Given the description of an element on the screen output the (x, y) to click on. 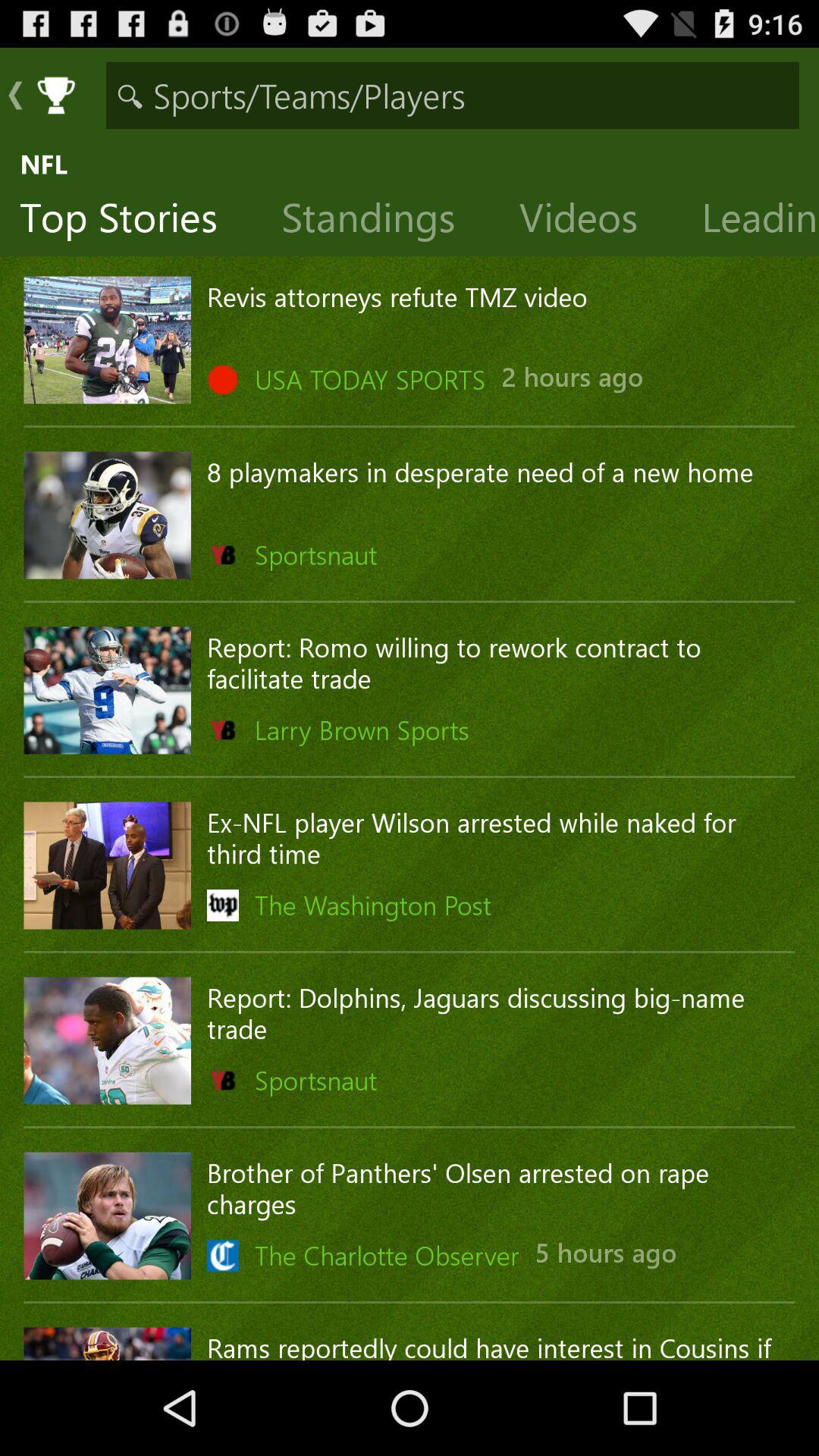
turn off the leading players icon (750, 220)
